Given the description of an element on the screen output the (x, y) to click on. 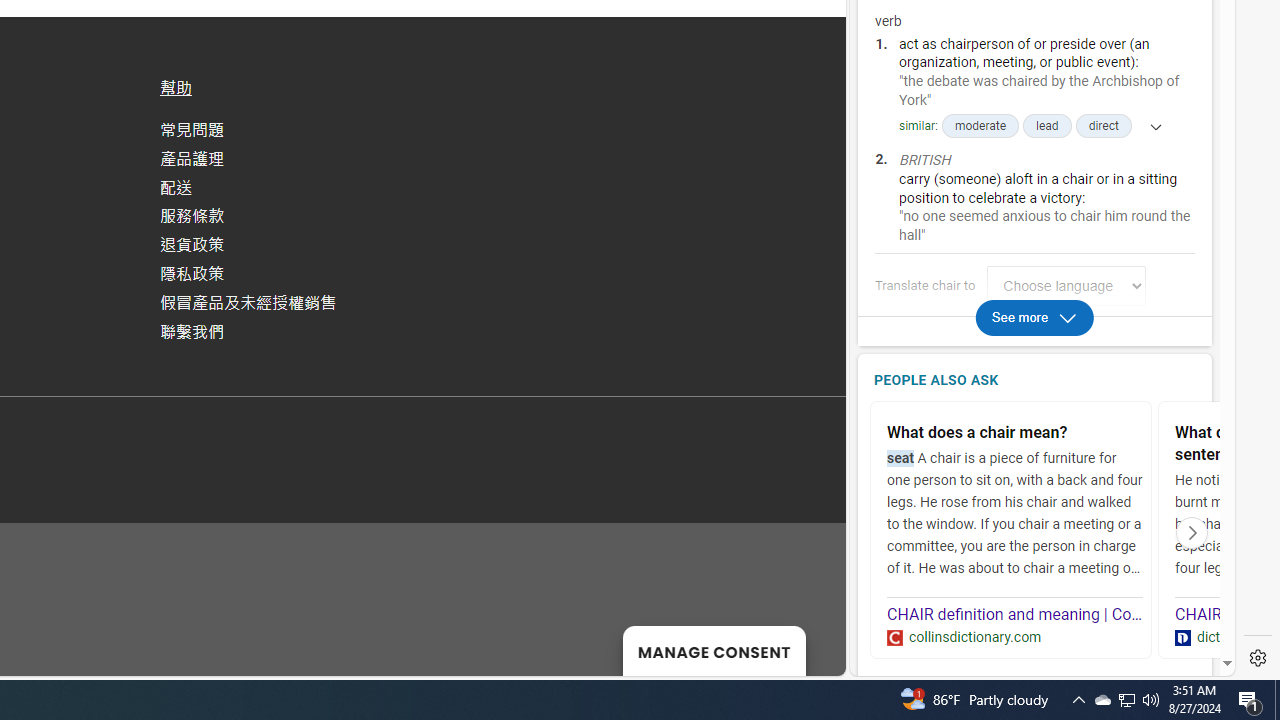
direct (1103, 125)
Show more (1149, 125)
